Given the description of an element on the screen output the (x, y) to click on. 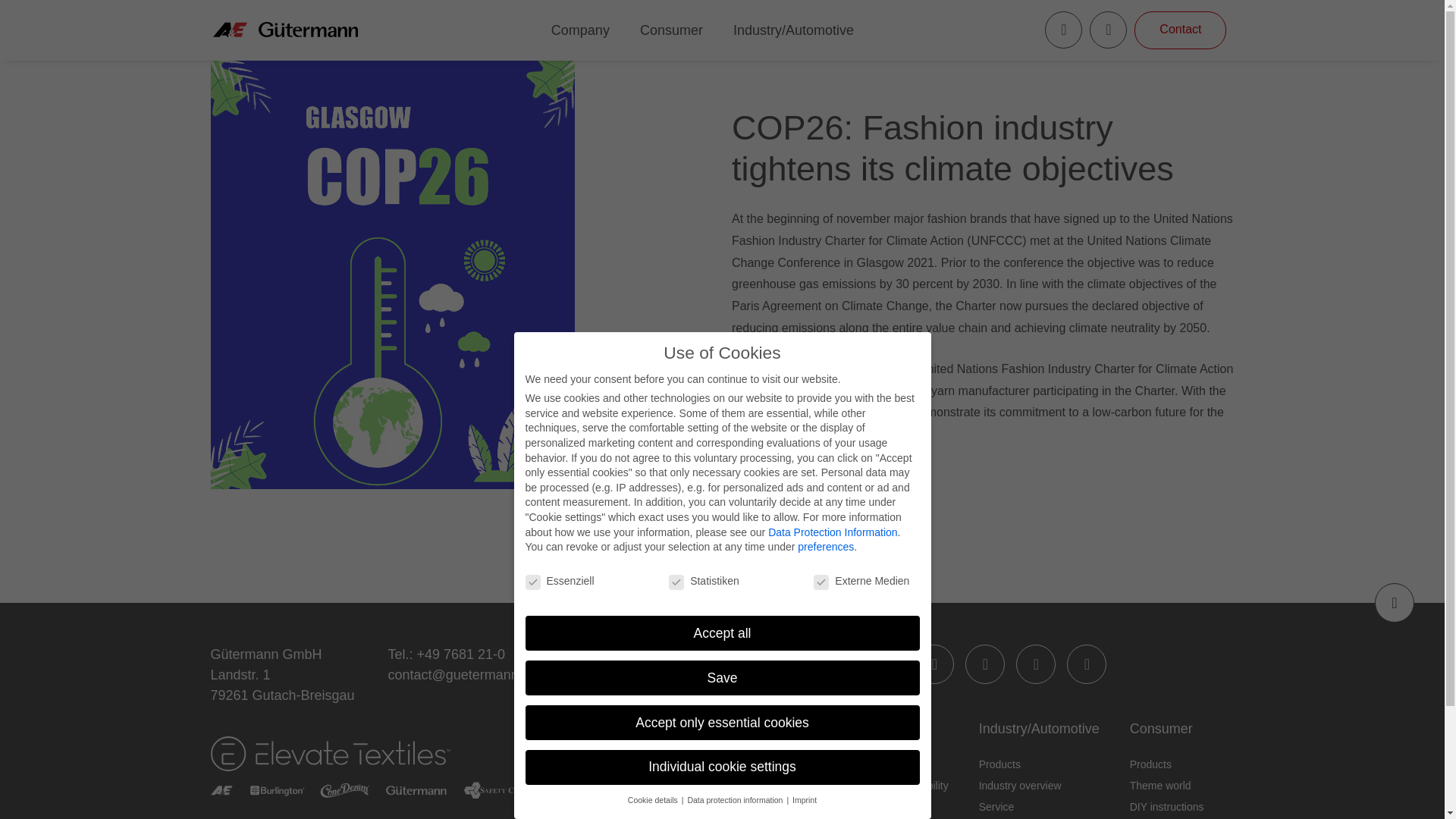
YouTube (1035, 663)
Scroll up (1393, 602)
Pinterest (1086, 663)
Xing (882, 663)
LinkedIn (831, 663)
Facebook (933, 663)
Consumer (671, 29)
Open Cookie Preferences (1411, 791)
Instagram (984, 663)
Company (841, 728)
Contact (1179, 30)
Quality (828, 764)
Company (580, 29)
